Given the description of an element on the screen output the (x, y) to click on. 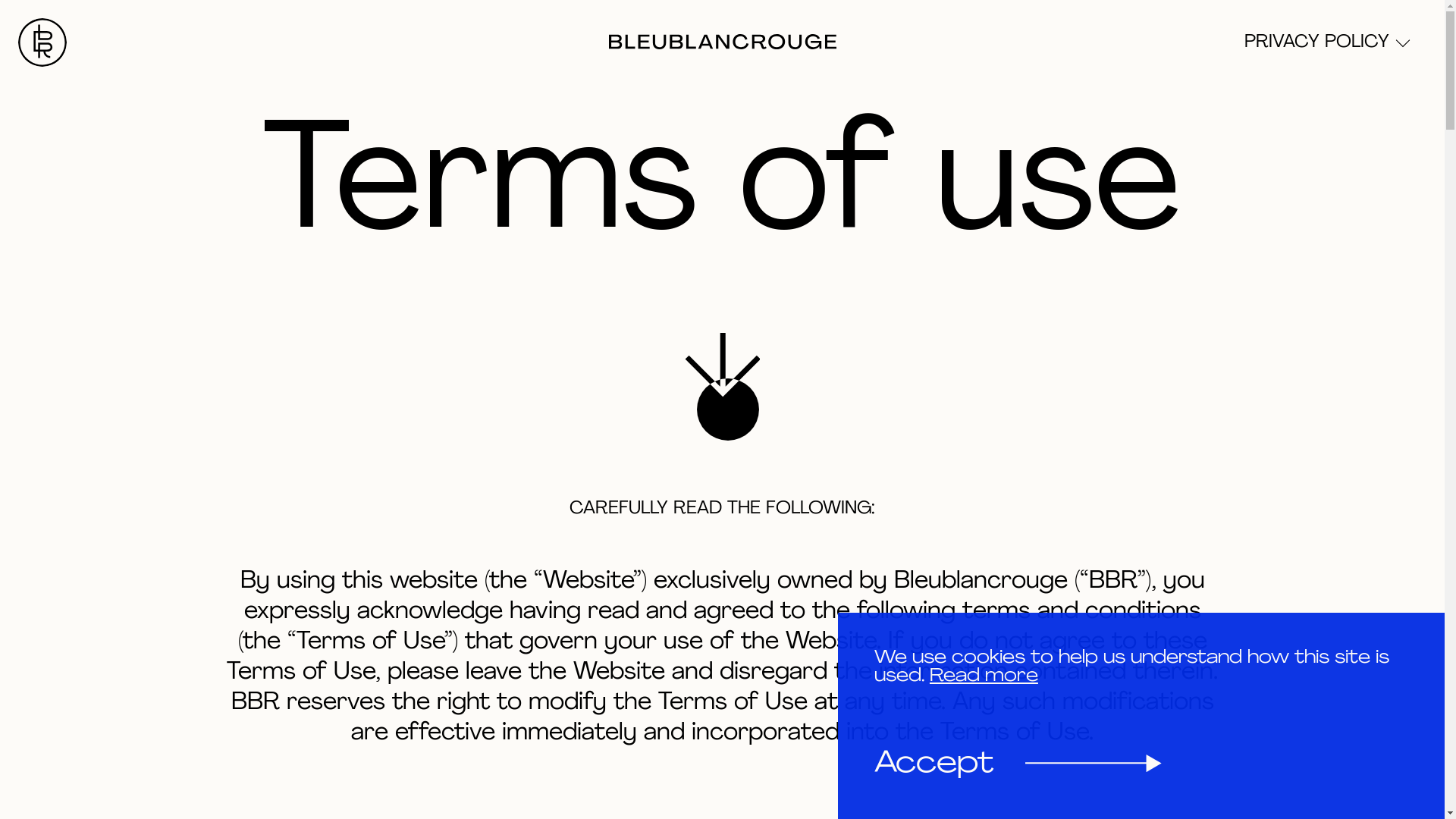
Read more Element type: text (983, 676)
PRIVACY POLICY Element type: text (1325, 42)
Accept Element type: text (1017, 764)
